Given the description of an element on the screen output the (x, y) to click on. 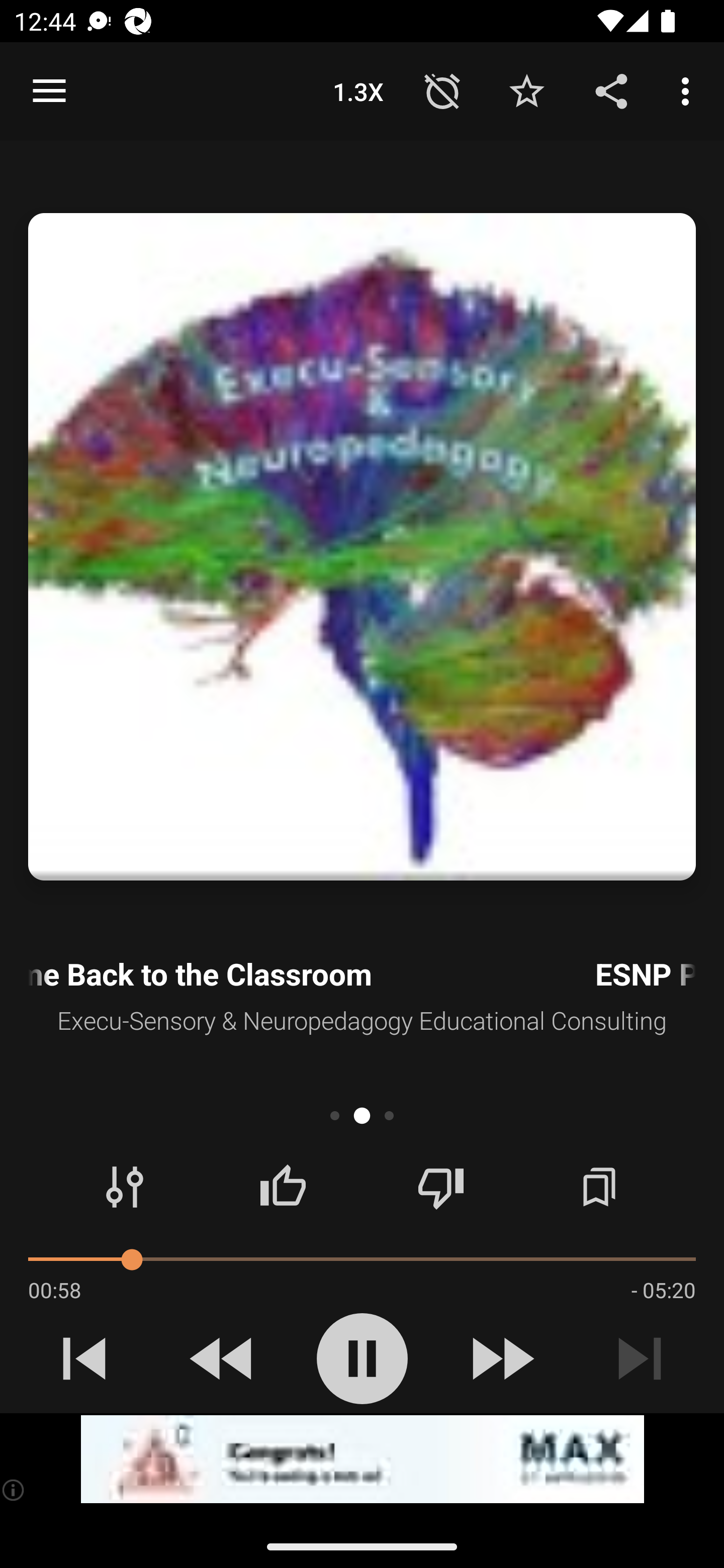
Open navigation sidebar (49, 91)
1.3X (357, 90)
Sleep Timer (442, 90)
Favorite (526, 90)
Share (611, 90)
More options (688, 90)
Episode description (361, 547)
Audio effects (124, 1186)
Thumbs up (283, 1186)
Thumbs down (440, 1186)
Chapters / Bookmarks (598, 1186)
- 05:20 (663, 1289)
Previous track (84, 1358)
Skip 15s backward (222, 1358)
Play / Pause (362, 1358)
Skip 30s forward (500, 1358)
Next track (639, 1358)
app-monetization (362, 1459)
(i) (14, 1489)
